Given the description of an element on the screen output the (x, y) to click on. 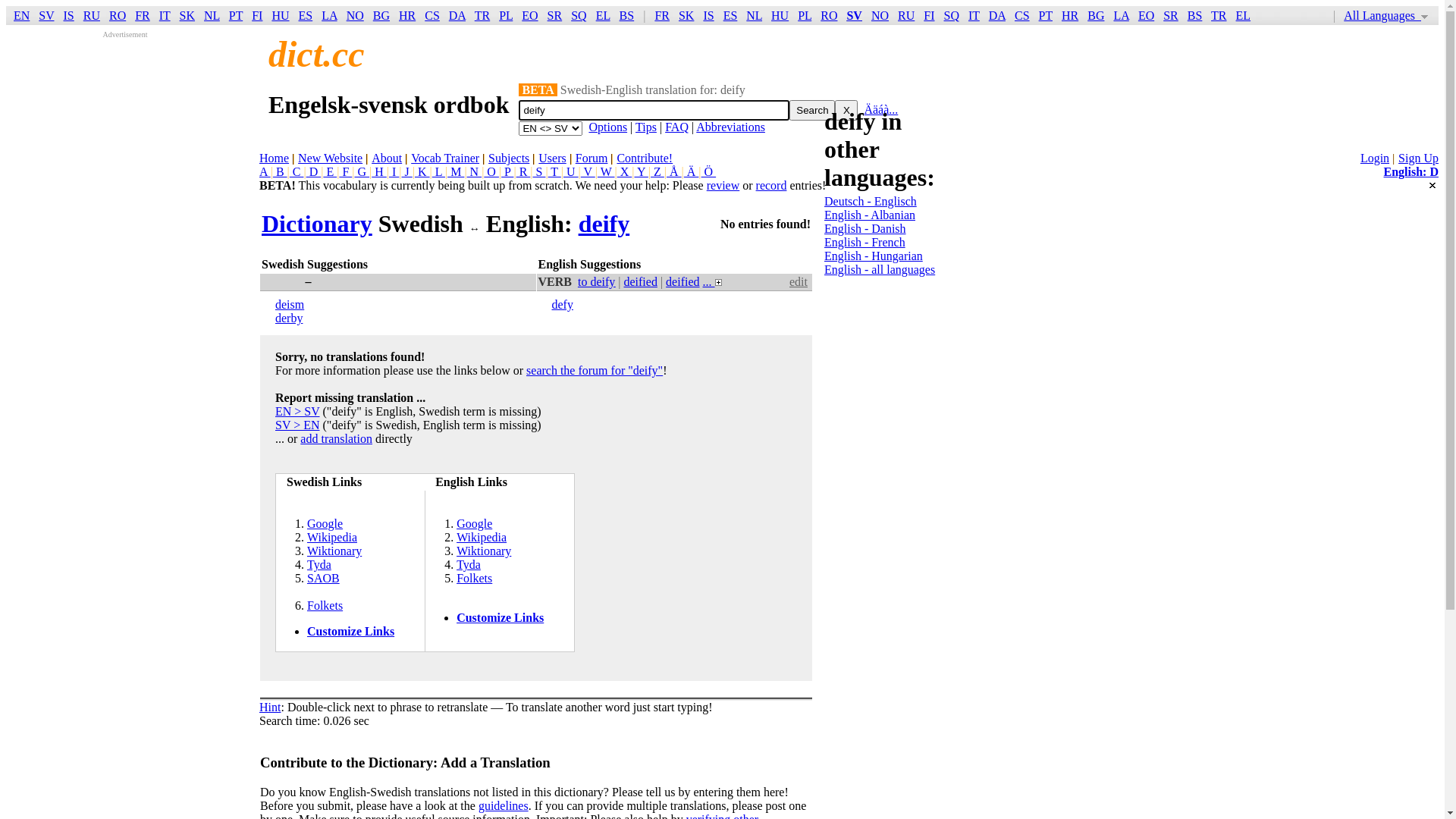
Folkets Element type: text (474, 577)
EO Element type: text (1146, 15)
SR Element type: text (1170, 15)
J Element type: text (406, 171)
SQ Element type: text (950, 15)
Google Element type: text (324, 523)
DA Element type: text (456, 15)
TR Element type: text (481, 15)
English - Danish Element type: text (865, 228)
Abbreviations Element type: text (730, 126)
G Element type: text (361, 171)
N Element type: text (474, 171)
Wiktionary Element type: text (334, 550)
BG Element type: text (1095, 15)
BS Element type: text (626, 15)
RO Element type: text (828, 15)
Search Element type: text (811, 110)
NO Element type: text (355, 15)
New Website Element type: text (330, 157)
edit Element type: text (798, 281)
Dictionary Element type: text (316, 223)
O Element type: text (490, 171)
English - French Element type: text (864, 241)
ES Element type: text (730, 15)
HR Element type: text (1069, 15)
Z Element type: text (657, 171)
Options Element type: text (607, 126)
F Element type: text (344, 171)
PL Element type: text (804, 15)
EO Element type: text (529, 15)
CS Element type: text (431, 15)
M Element type: text (455, 171)
Sign Up Element type: text (1418, 157)
LA Element type: text (1120, 15)
SK Element type: text (685, 15)
SQ Element type: text (578, 15)
SV > EN Element type: text (297, 424)
Hint Element type: text (269, 706)
C Element type: text (296, 171)
K Element type: text (421, 171)
T Element type: text (554, 171)
FR Element type: text (142, 15)
DA Element type: text (996, 15)
I Element type: text (393, 171)
Google Element type: text (474, 523)
D Element type: text (313, 171)
NL Element type: text (211, 15)
IS Element type: text (68, 15)
add translation Element type: text (336, 438)
LA Element type: text (328, 15)
Wikipedia Element type: text (332, 536)
guidelines Element type: text (503, 805)
L Element type: text (438, 171)
English - Albanian Element type: text (869, 214)
English - Hungarian Element type: text (873, 255)
search the forum for "deify" Element type: text (594, 370)
ES Element type: text (305, 15)
IT Element type: text (164, 15)
H Element type: text (378, 171)
defy Element type: text (562, 304)
Y Element type: text (640, 171)
EN > SV Element type: text (297, 410)
BS Element type: text (1194, 15)
X Element type: text (845, 110)
FI Element type: text (256, 15)
record Element type: text (771, 184)
E Element type: text (329, 171)
deify Element type: text (604, 223)
Wikipedia Element type: text (481, 536)
dict.cc Element type: text (316, 54)
PT Element type: text (235, 15)
Login Element type: text (1374, 157)
SAOB Element type: text (323, 577)
Subjects Element type: text (508, 157)
Wiktionary Element type: text (483, 550)
RU Element type: text (91, 15)
SK Element type: text (186, 15)
NO Element type: text (879, 15)
Deutsch - Englisch Element type: text (870, 200)
BG Element type: text (381, 15)
SV Element type: text (853, 15)
A Element type: text (264, 171)
Tyda Element type: text (319, 564)
SR Element type: text (554, 15)
About Element type: text (386, 157)
Contribute to the Dictionary: Add a Translation Element type: text (405, 762)
FAQ Element type: text (676, 126)
W Element type: text (606, 171)
P Element type: text (507, 171)
EN Element type: text (21, 15)
Tips Element type: text (645, 126)
FR Element type: text (661, 15)
English: D Element type: text (1410, 171)
HU Element type: text (779, 15)
EL Element type: text (603, 15)
PT Element type: text (1045, 15)
RO Element type: text (117, 15)
review Element type: text (723, 184)
deism Element type: text (289, 304)
S Element type: text (538, 171)
EL Element type: text (1243, 15)
deified Element type: text (682, 281)
deified Element type: text (639, 281)
CS Element type: text (1021, 15)
Users Element type: text (551, 157)
to deify Element type: text (596, 281)
V Element type: text (587, 171)
FI Element type: text (928, 15)
Folkets Element type: text (324, 605)
HR Element type: text (406, 15)
U Element type: text (570, 171)
X Element type: text (624, 171)
Home Element type: text (273, 157)
...  Element type: text (711, 281)
Vocab Trainer Element type: text (445, 157)
HU Element type: text (279, 15)
Tyda Element type: text (468, 564)
TR Element type: text (1218, 15)
RU Element type: text (905, 15)
Contribute! Element type: text (644, 157)
IS Element type: text (707, 15)
Customize Links Element type: text (350, 630)
IT Element type: text (973, 15)
B Element type: text (280, 171)
English - all languages Element type: text (879, 269)
SV Element type: text (45, 15)
NL Element type: text (754, 15)
Forum Element type: text (591, 157)
All Languages  Element type: text (1385, 15)
derby Element type: text (288, 317)
PL Element type: text (505, 15)
R Element type: text (523, 171)
Customize Links Element type: text (499, 617)
